Given the description of an element on the screen output the (x, y) to click on. 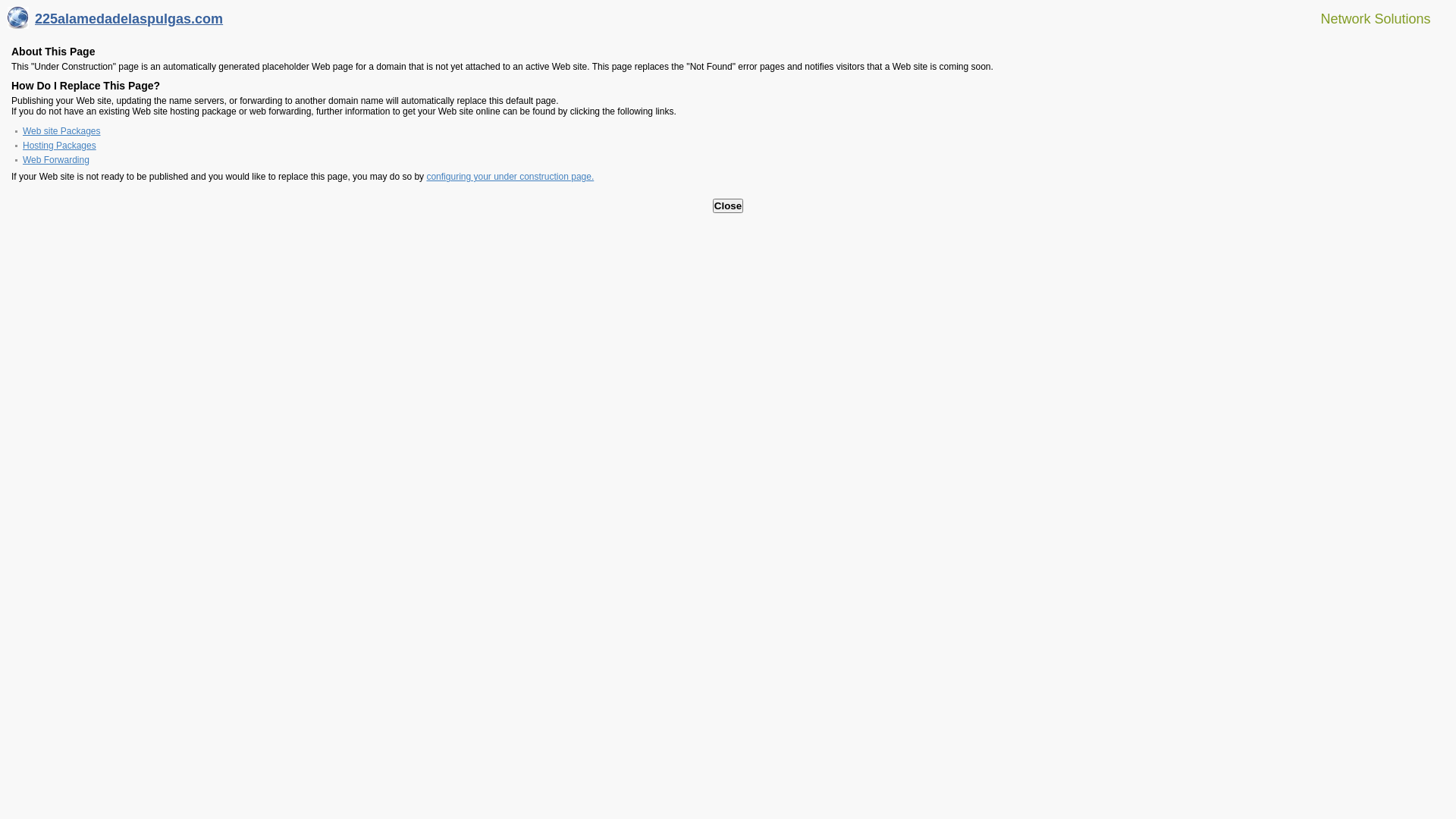
Network Solutions Element type: text (1366, 17)
225alamedadelaspulgas.com Element type: text (114, 21)
configuring your under construction page. Element type: text (509, 176)
Close Element type: text (727, 205)
